Given the description of an element on the screen output the (x, y) to click on. 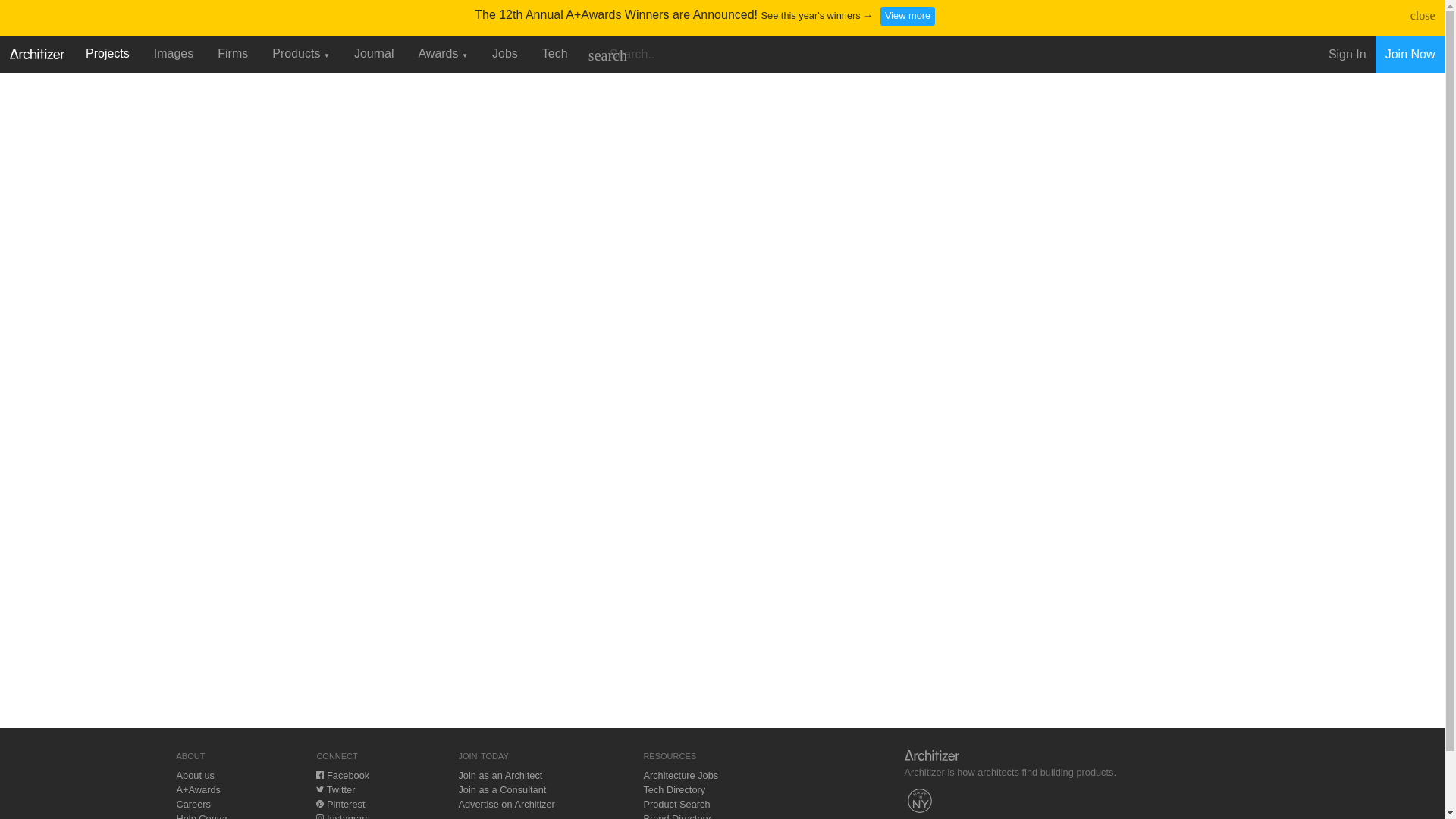
About us (195, 775)
Projects (107, 53)
Jobs (504, 53)
Architecture Jobs (680, 775)
Tech (554, 53)
Sign In (1347, 54)
Advertise on Architizer (506, 803)
Twitter (335, 789)
search (606, 55)
Facebook (342, 775)
